Given the description of an element on the screen output the (x, y) to click on. 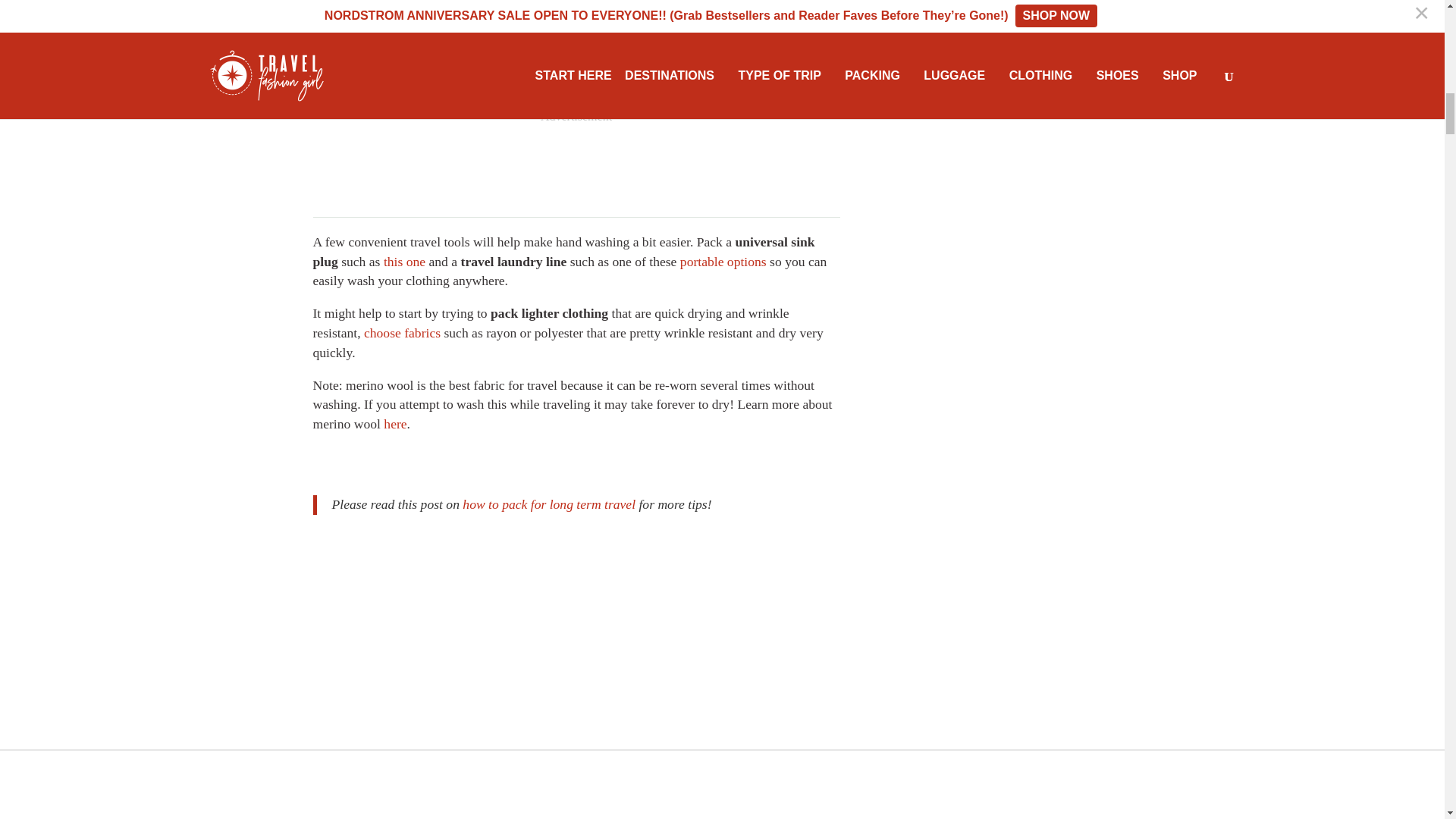
How to Choose the Best Fabrics for Travel (402, 332)
